Given the description of an element on the screen output the (x, y) to click on. 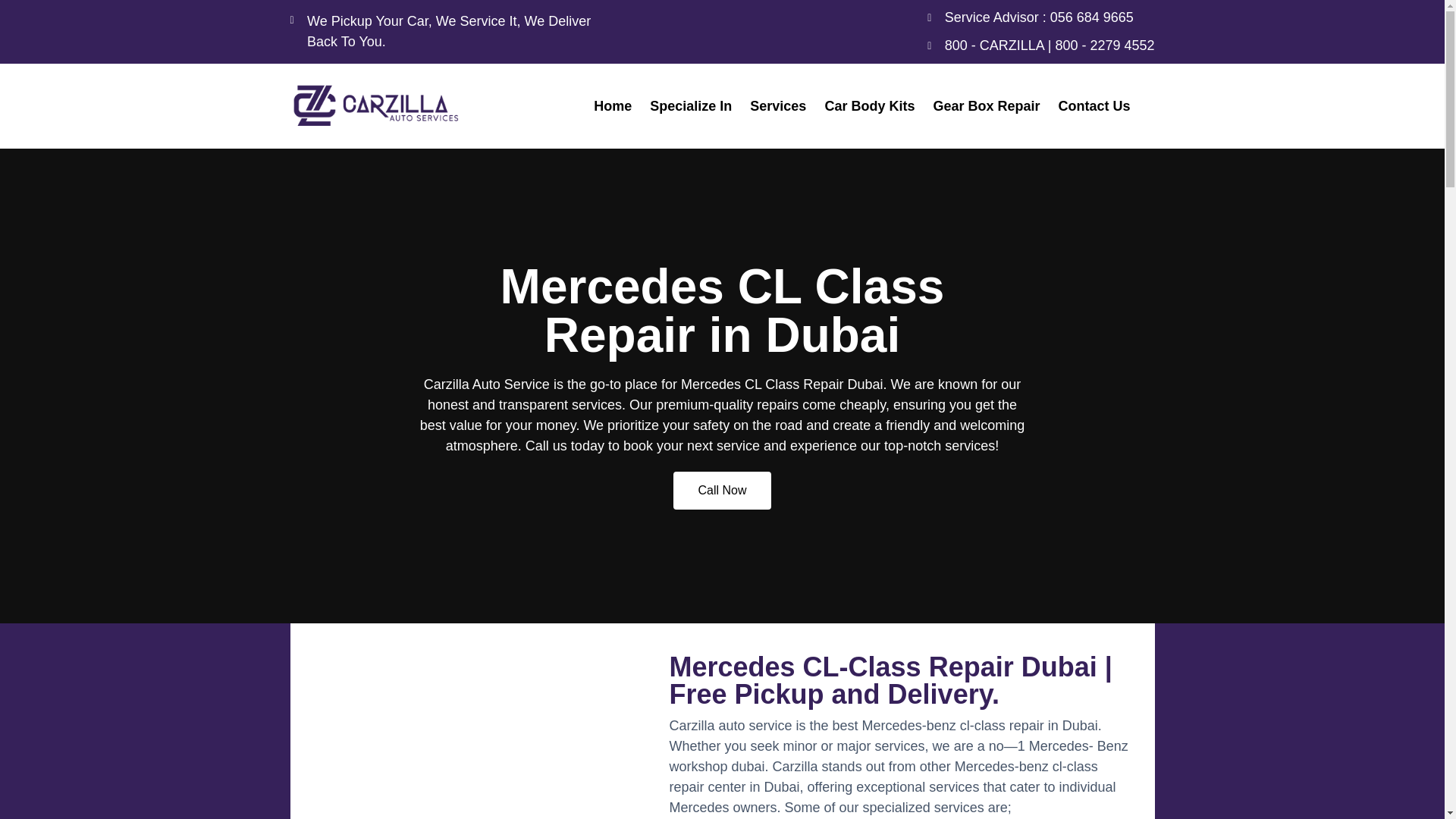
Contact Us (1093, 105)
Services (778, 105)
Specialize In (690, 105)
Home (612, 105)
Car Body Kits (869, 105)
Gear Box Repair (985, 105)
Service Advisor : 056 684 9665 (1040, 17)
